Given the description of an element on the screen output the (x, y) to click on. 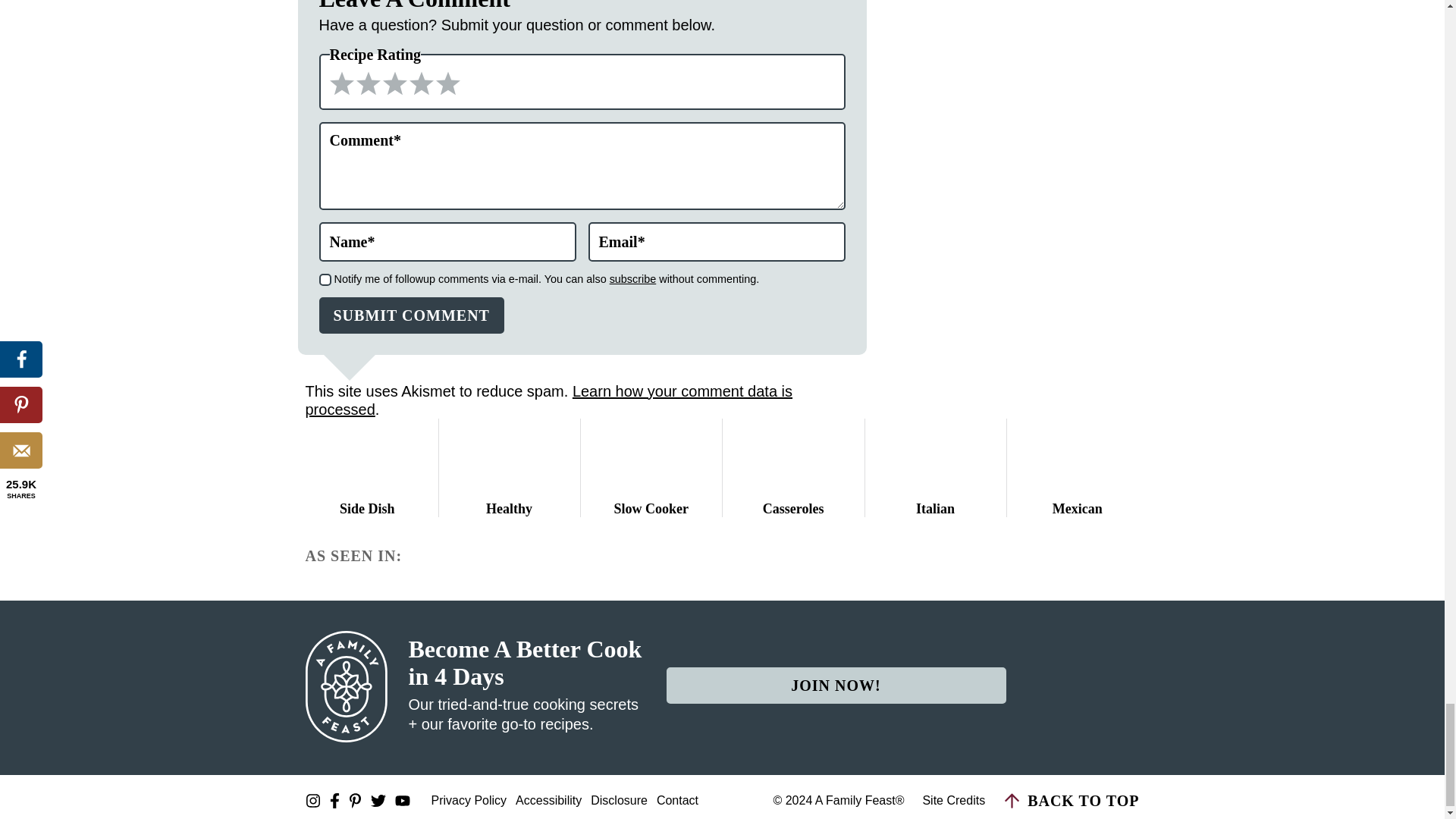
replies (324, 279)
Submit Comment (410, 315)
